Given the description of an element on the screen output the (x, y) to click on. 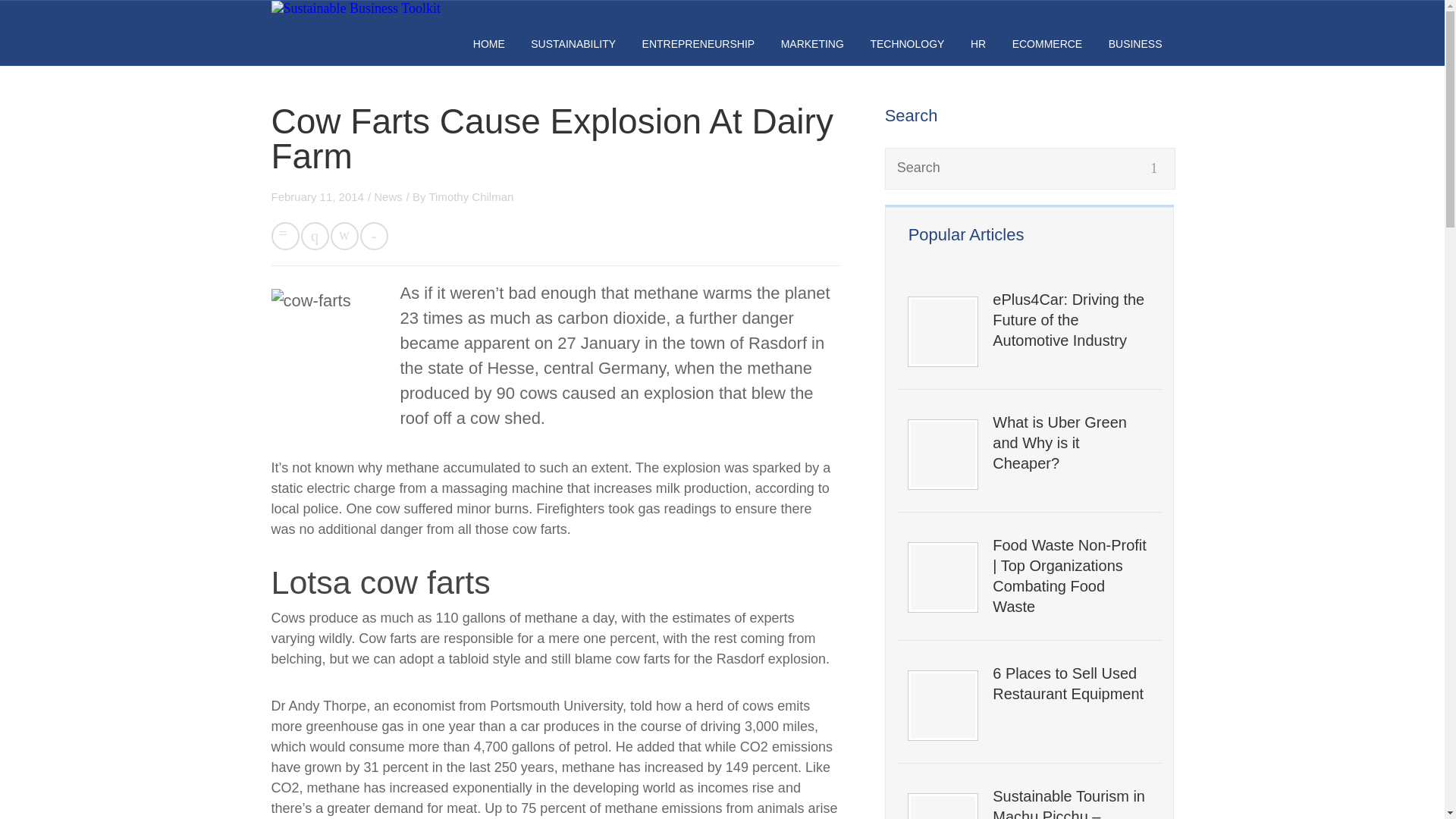
ENTREPRENEURSHIP (698, 43)
MARKETING (812, 43)
News (387, 196)
SUSTAINABILITY (573, 43)
HR (978, 43)
ePlus4Car: Driving the Future of the Automotive Industry (1071, 320)
ECOMMERCE (1047, 43)
Timothy Chilman (470, 196)
What is Uber Green and Why is it Cheaper? (1071, 443)
BUSINESS (1134, 43)
